Given the description of an element on the screen output the (x, y) to click on. 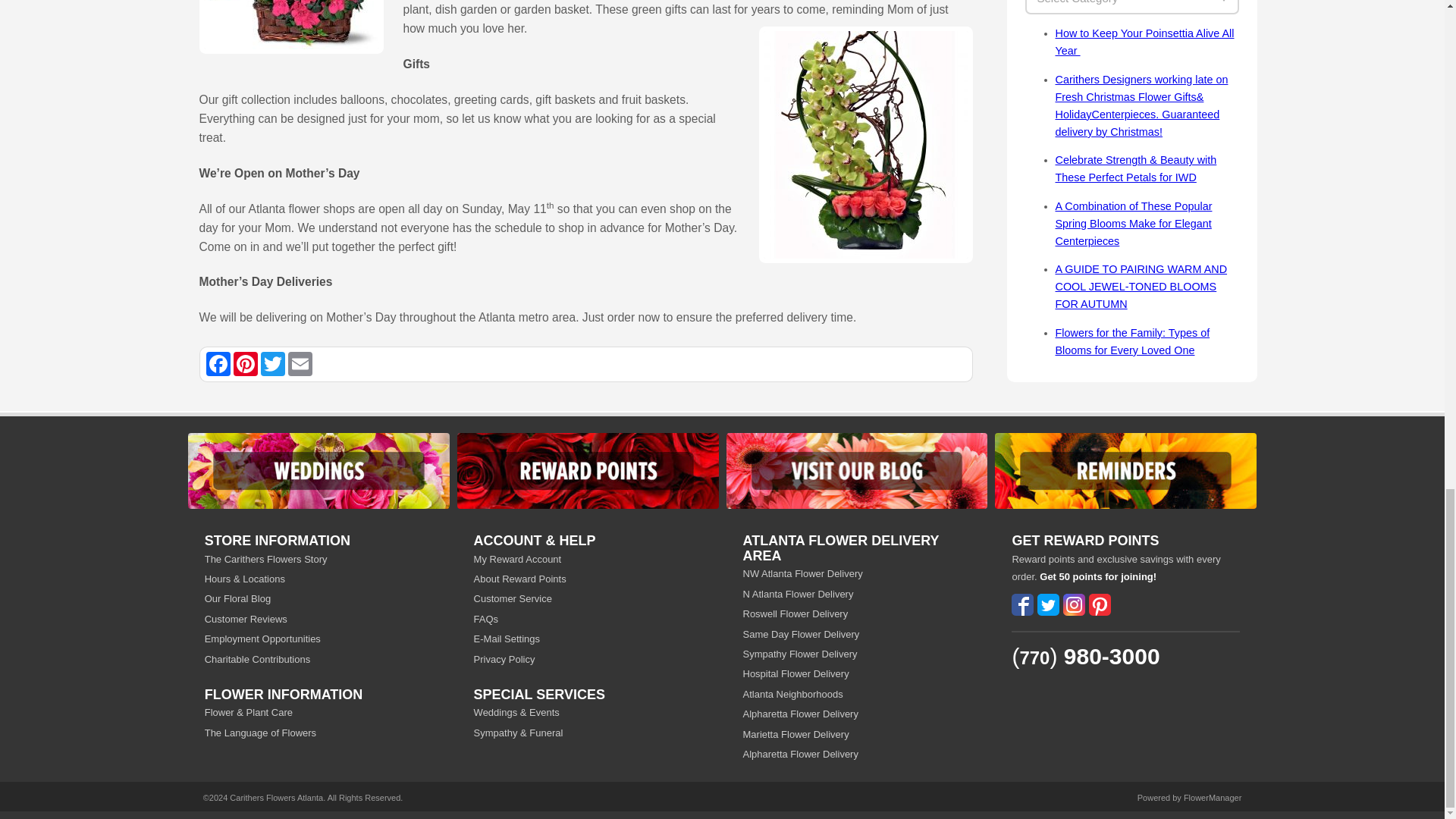
Pinterest (245, 363)
Facebook (218, 363)
The Carithers Flowers Story (318, 559)
Twitter (272, 363)
Pinterest (245, 363)
Email (300, 363)
Twitter (272, 363)
Facebook (218, 363)
Email (300, 363)
